Given the description of an element on the screen output the (x, y) to click on. 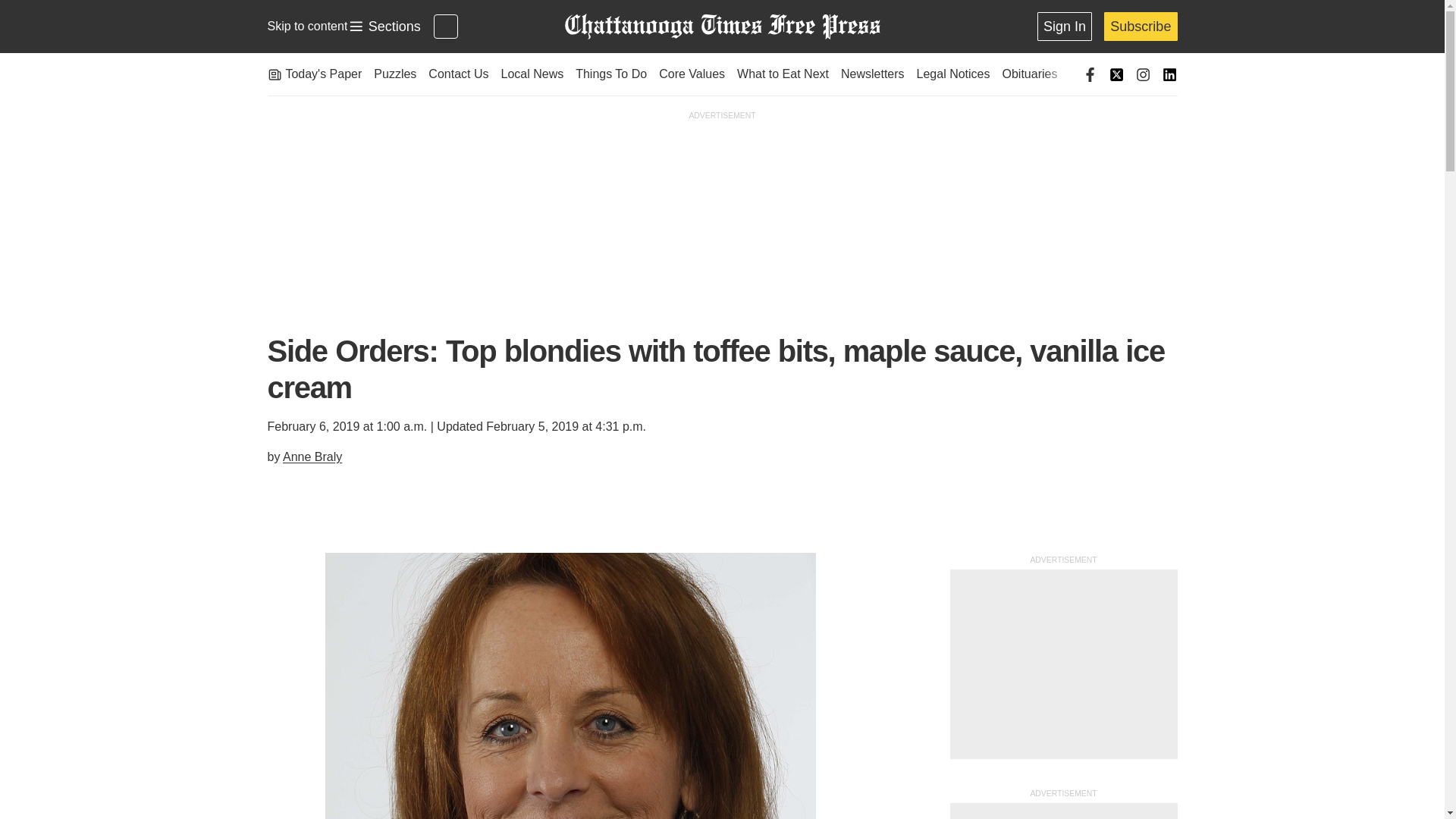
Skip to content (306, 26)
Times Free Press (721, 26)
